Given the description of an element on the screen output the (x, y) to click on. 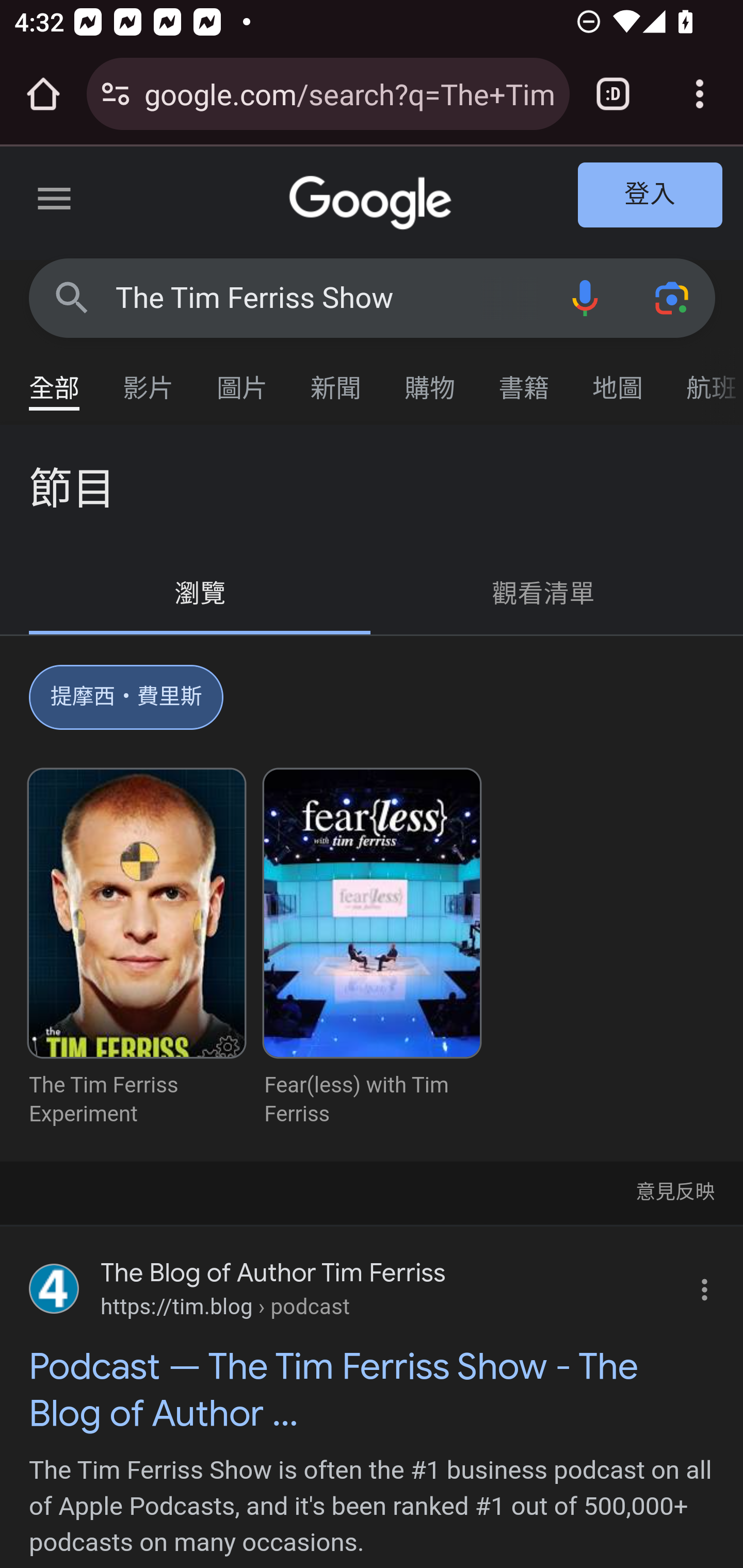
Open the home page (43, 93)
Connection is secure (115, 93)
Switch or close tabs (612, 93)
Customize and control Google Chrome (699, 93)
主選單 (54, 202)
Google (372, 203)
登入 (650, 195)
Google 搜尋 (71, 296)
使用相機或相片搜尋 (672, 296)
The Tim Ferriss Show (328, 297)
影片 (148, 378)
圖片 (242, 378)
新聞 (336, 378)
購物 (430, 378)
書籍 (524, 378)
地圖 (618, 378)
航班 (703, 378)
瀏覽 (200, 594)
觀看清單 (544, 594)
提摩西・費里斯 (126, 701)
The Tim Ferriss Experiment (136, 949)
Fear(less) with Tim Ferriss (371, 949)
意見反映 (673, 1189)
